Given the description of an element on the screen output the (x, y) to click on. 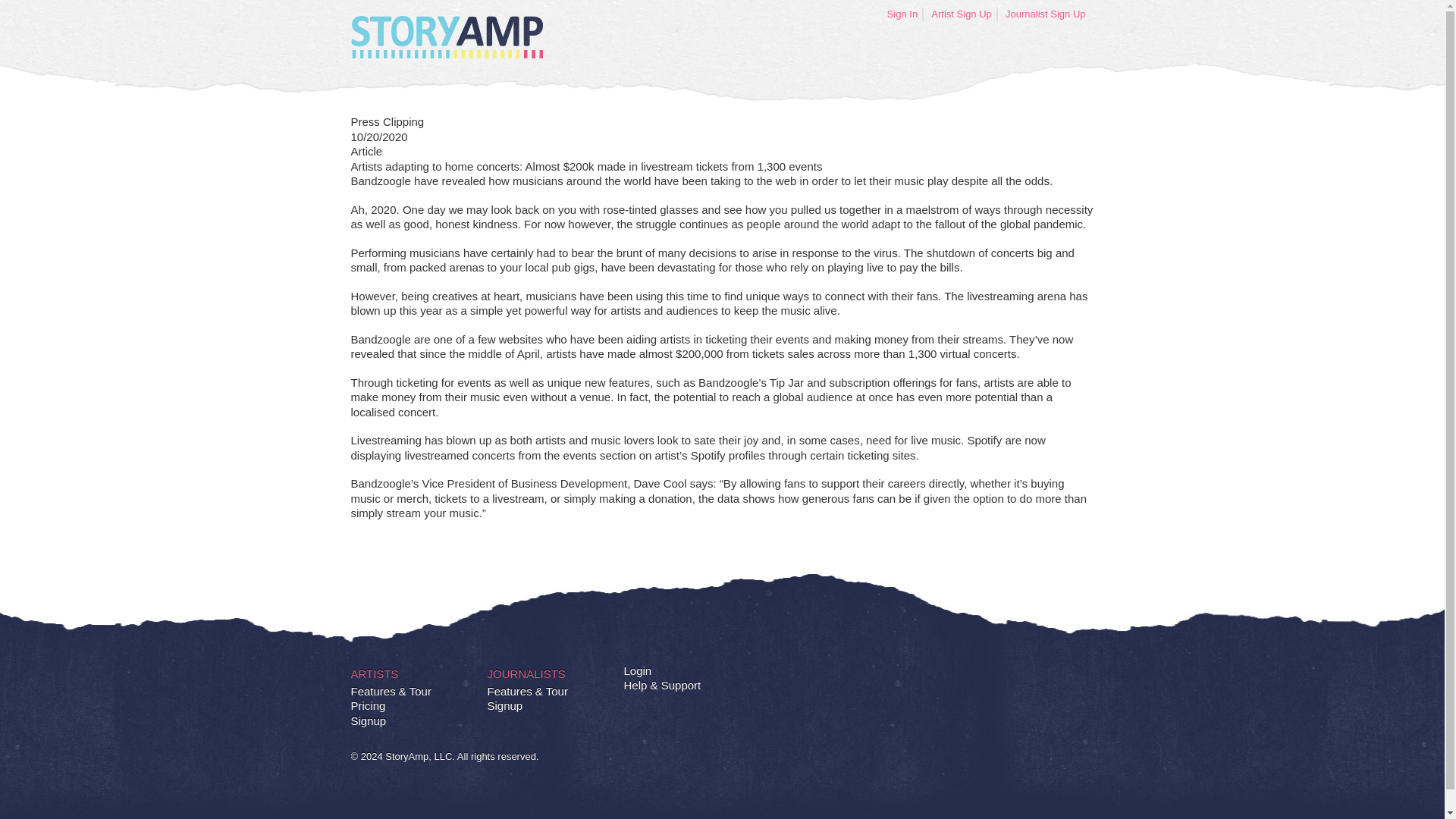
Sign In (902, 14)
Pricing (367, 705)
Journalist Sign Up (1045, 14)
ARTISTS (373, 672)
JOURNALISTS (525, 672)
Signup (367, 720)
Signup (504, 705)
Login (636, 670)
Artist Sign Up (961, 14)
